Given the description of an element on the screen output the (x, y) to click on. 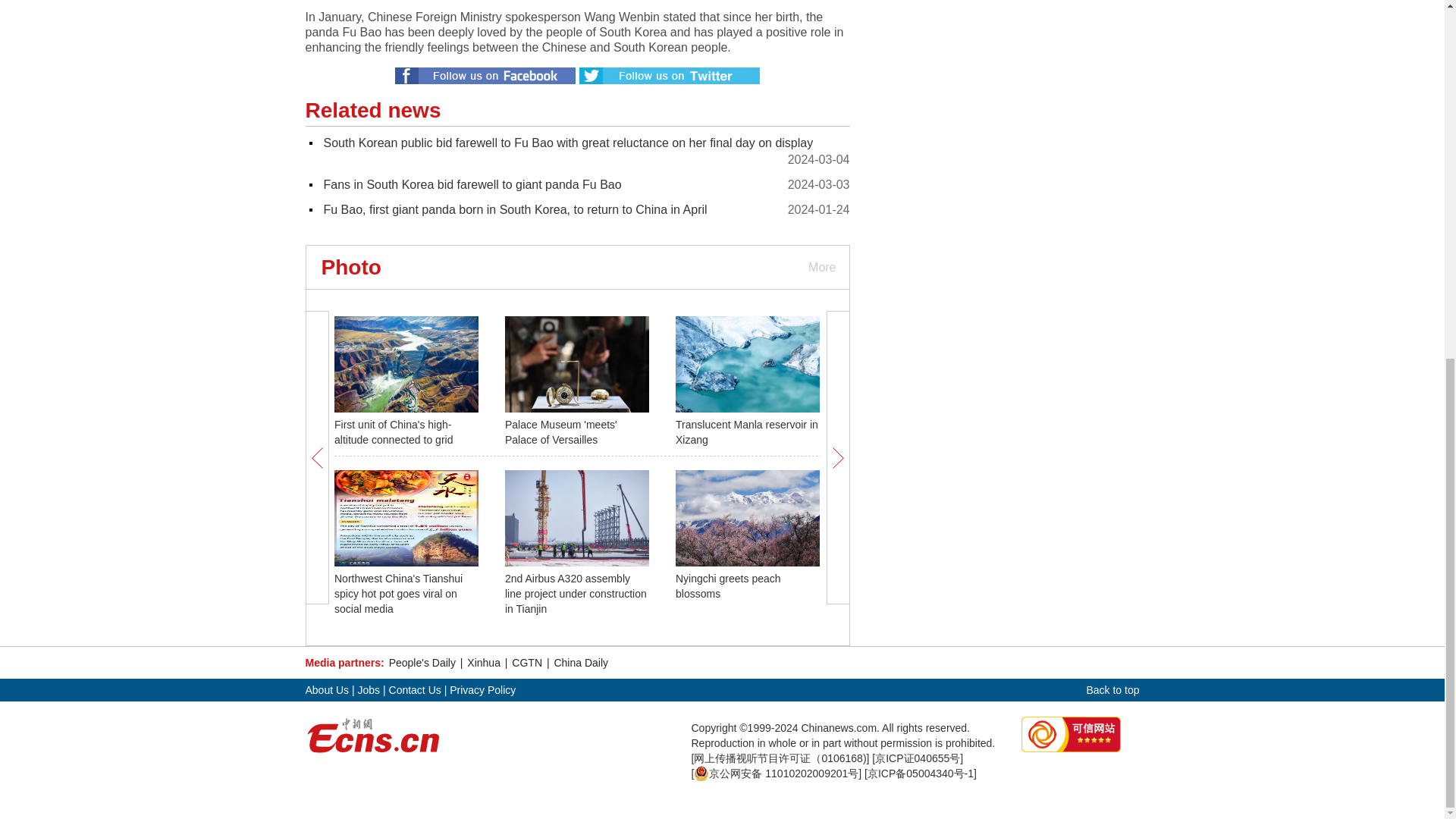
First unit of China's high-altitude connected to grid (393, 431)
Palace Museum 'meets' Palace of Versailles (561, 431)
Translucent Manla reservoir in Xizang (746, 431)
Fans in South Korea bid farewell to giant panda Fu Bao (472, 184)
Nyingchi greets peach blossoms (727, 585)
